Given the description of an element on the screen output the (x, y) to click on. 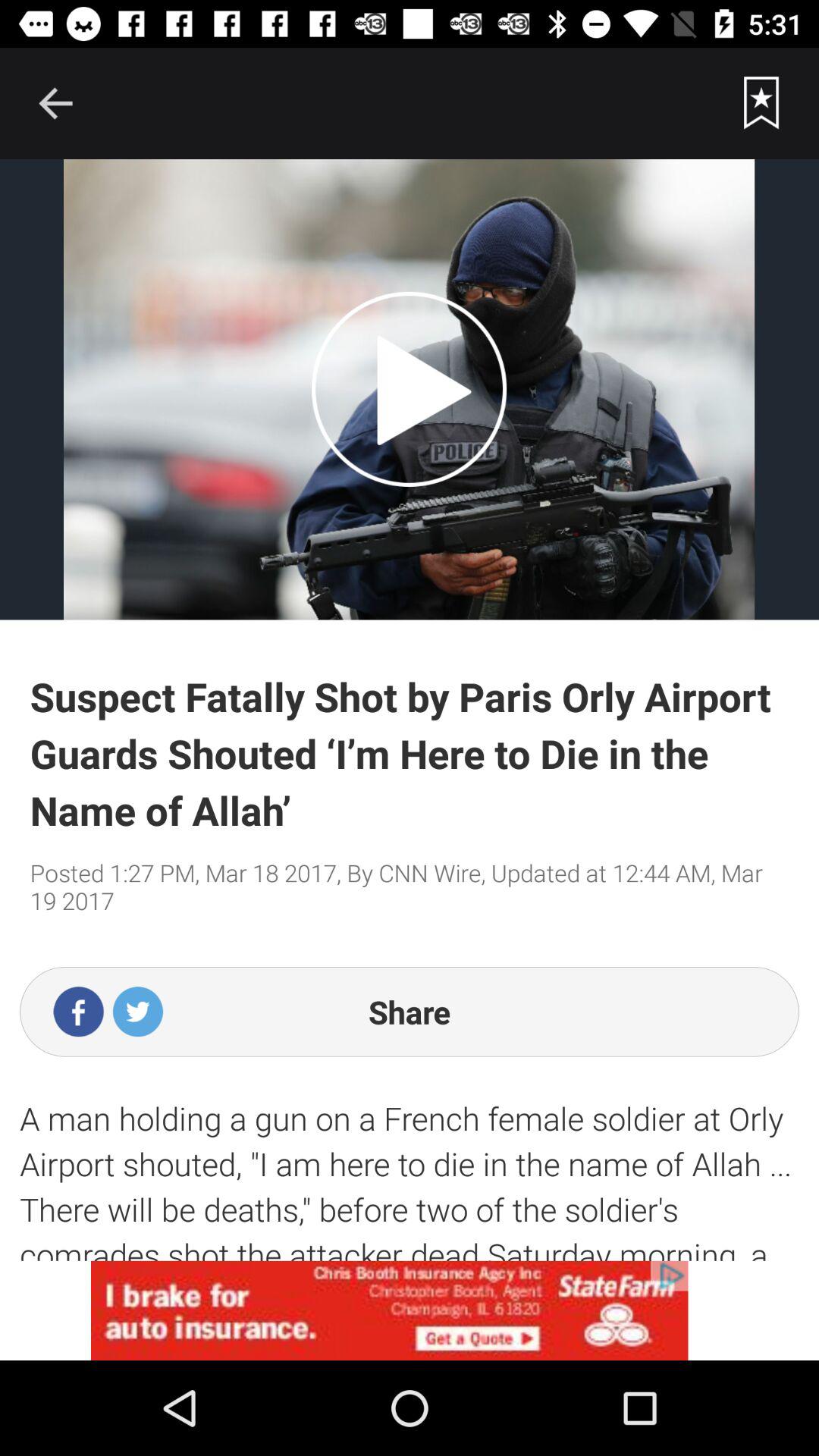
favorite (761, 102)
